Given the description of an element on the screen output the (x, y) to click on. 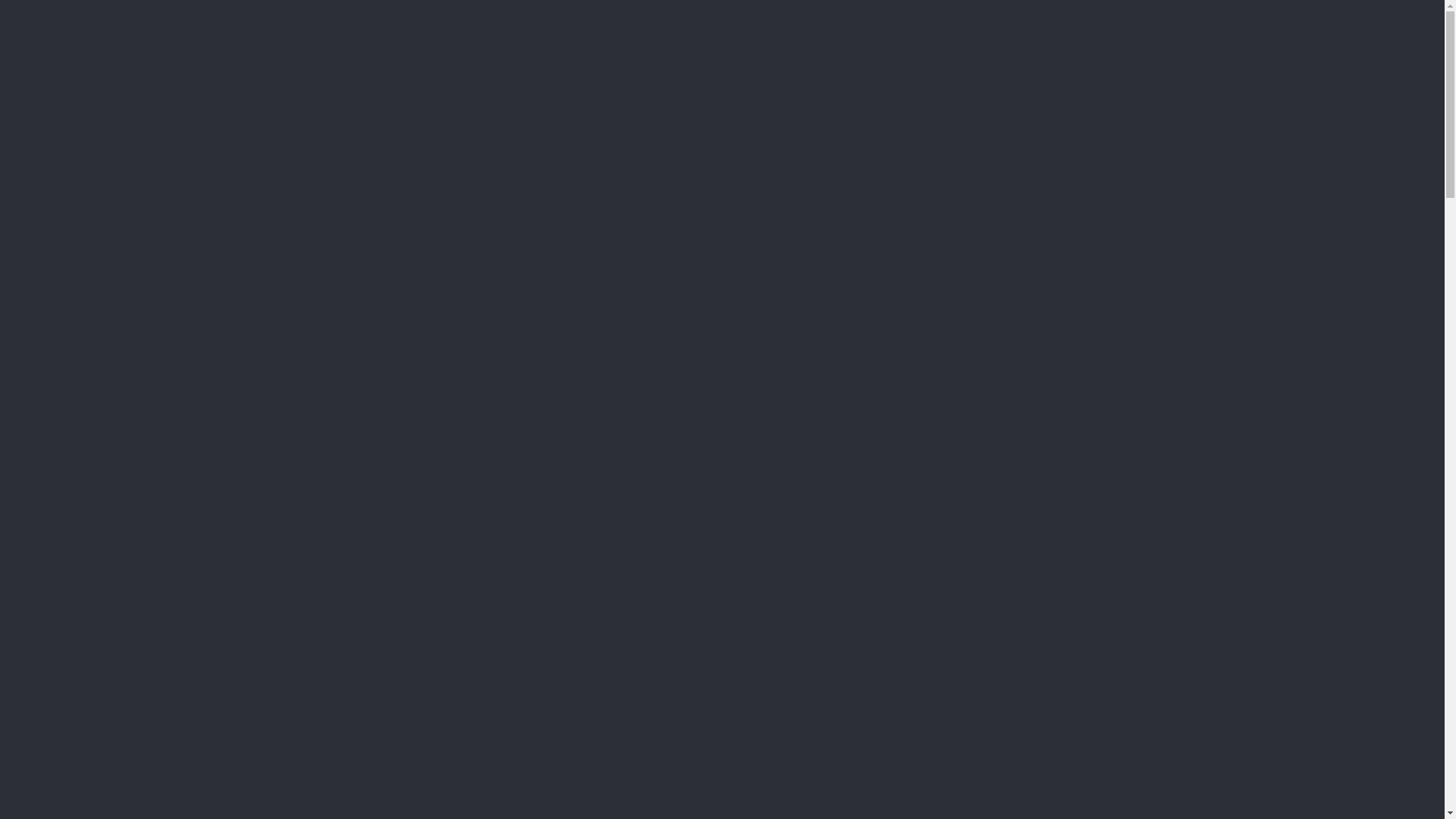
Home Element type: text (675, 59)
0407 635 658 Element type: text (1136, 58)
Contact Element type: text (1034, 59)
Who We Serve Element type: text (774, 59)
READ MORE Element type: text (149, 396)
About Element type: text (966, 59)
Services Element type: text (889, 59)
